Given the description of an element on the screen output the (x, y) to click on. 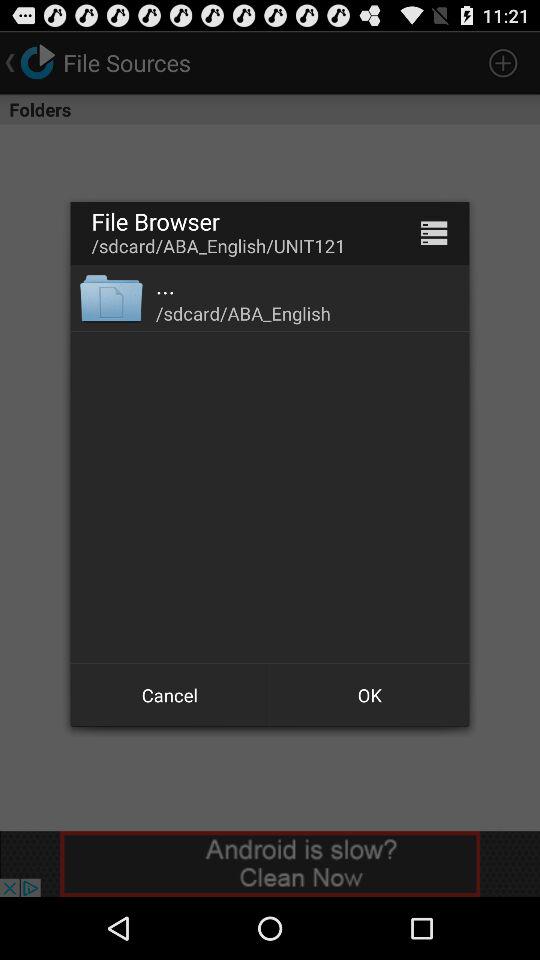
click the app to the left of ... icon (110, 297)
